Given the description of an element on the screen output the (x, y) to click on. 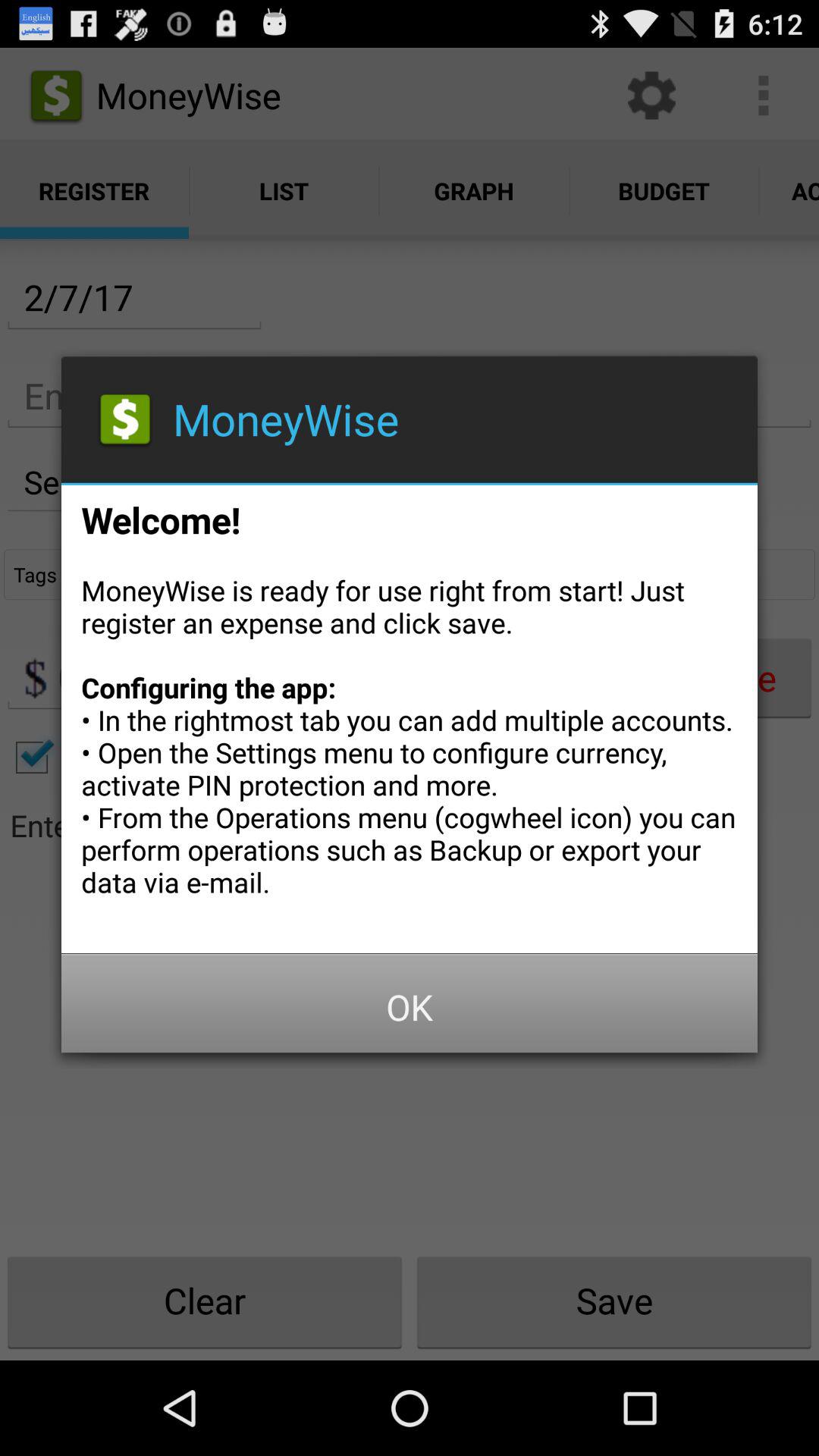
choose the welcome moneywise is app (409, 714)
